Given the description of an element on the screen output the (x, y) to click on. 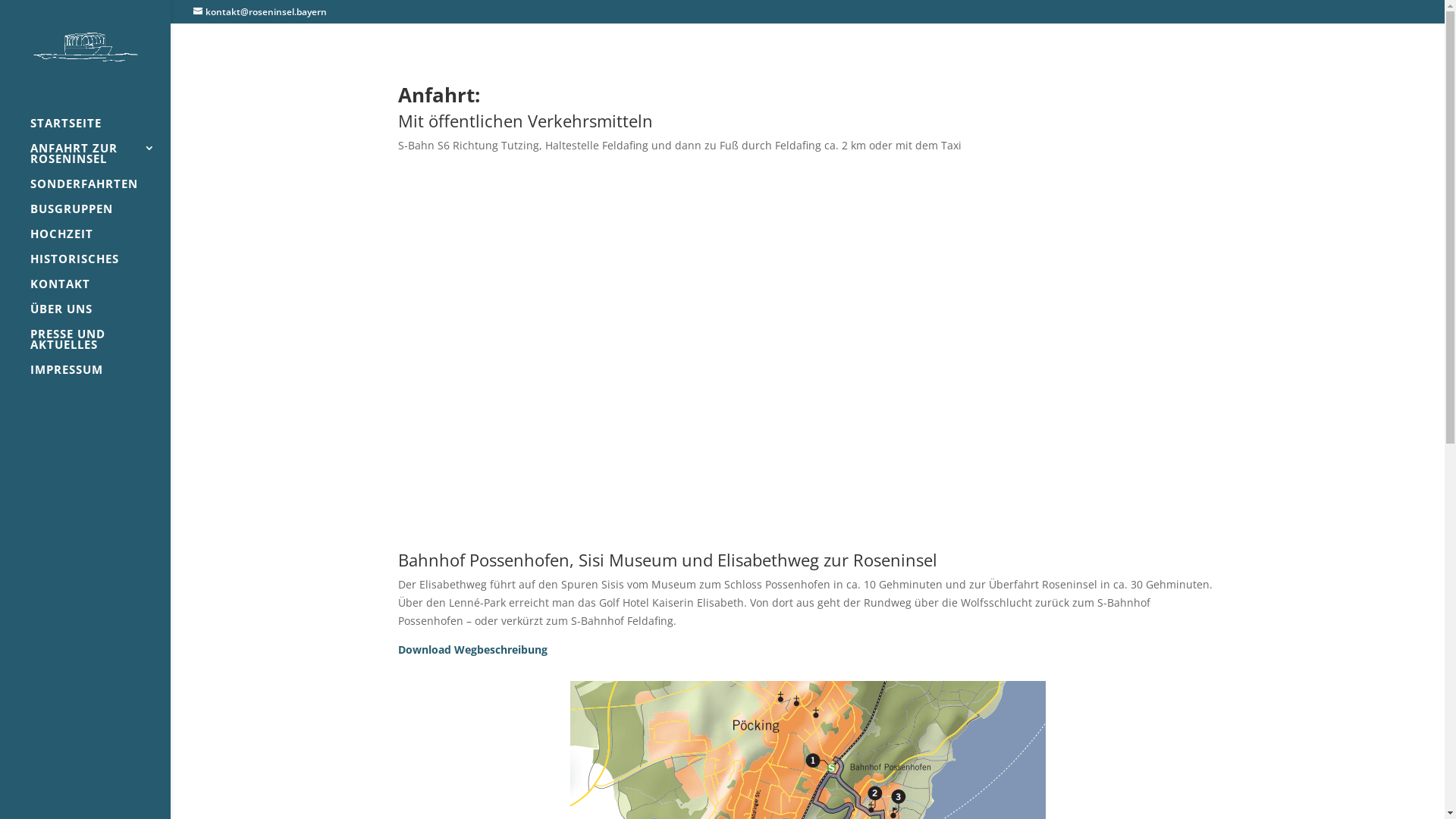
ANFAHRT ZUR ROSENINSEL Element type: text (100, 160)
SONDERFAHRTEN Element type: text (100, 190)
BUSGRUPPEN Element type: text (100, 215)
HOCHZEIT Element type: text (100, 240)
IMPRESSUM Element type: text (100, 376)
PRESSE UND AKTUELLES Element type: text (100, 346)
HISTORISCHES Element type: text (100, 265)
kontakt@roseninsel.bayern Element type: text (259, 11)
KONTAKT Element type: text (100, 290)
STARTSEITE Element type: text (100, 129)
Download Wegbeschreibung Element type: text (472, 649)
